Given the description of an element on the screen output the (x, y) to click on. 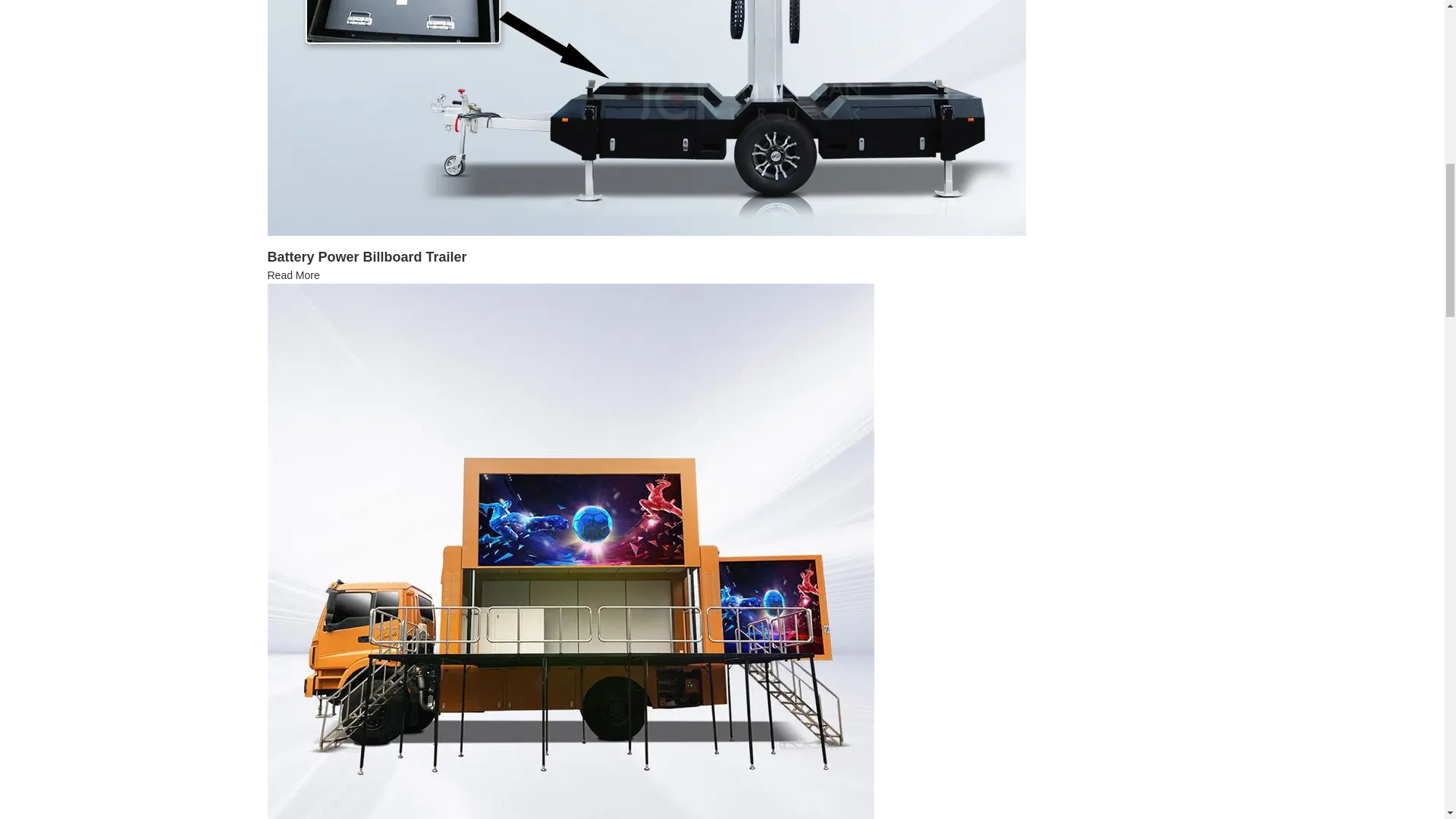
Battery Power Billboard Trailer (292, 275)
Battery Power Billboard Trailer (365, 256)
Read More (292, 275)
Battery Power Billboard Trailer (365, 256)
